Given the description of an element on the screen output the (x, y) to click on. 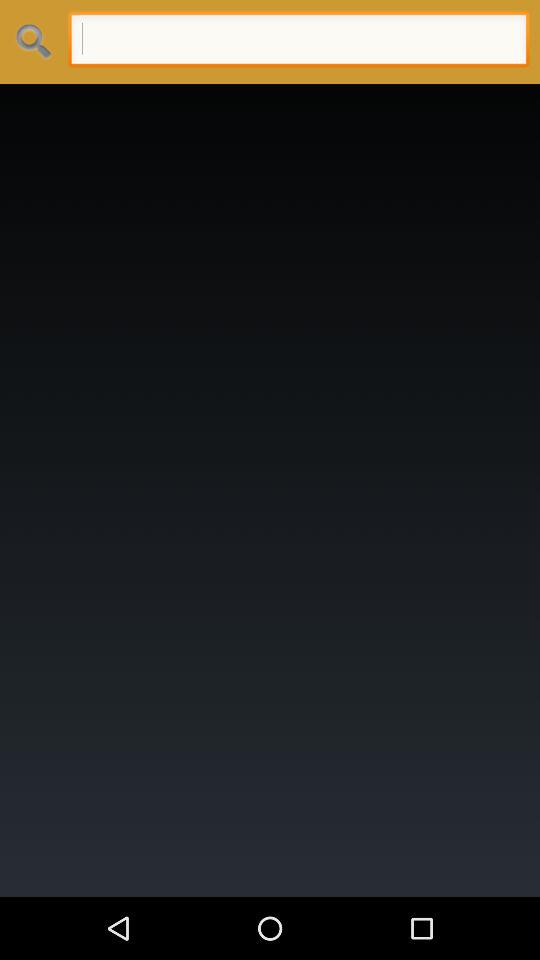
search (298, 41)
